Given the description of an element on the screen output the (x, y) to click on. 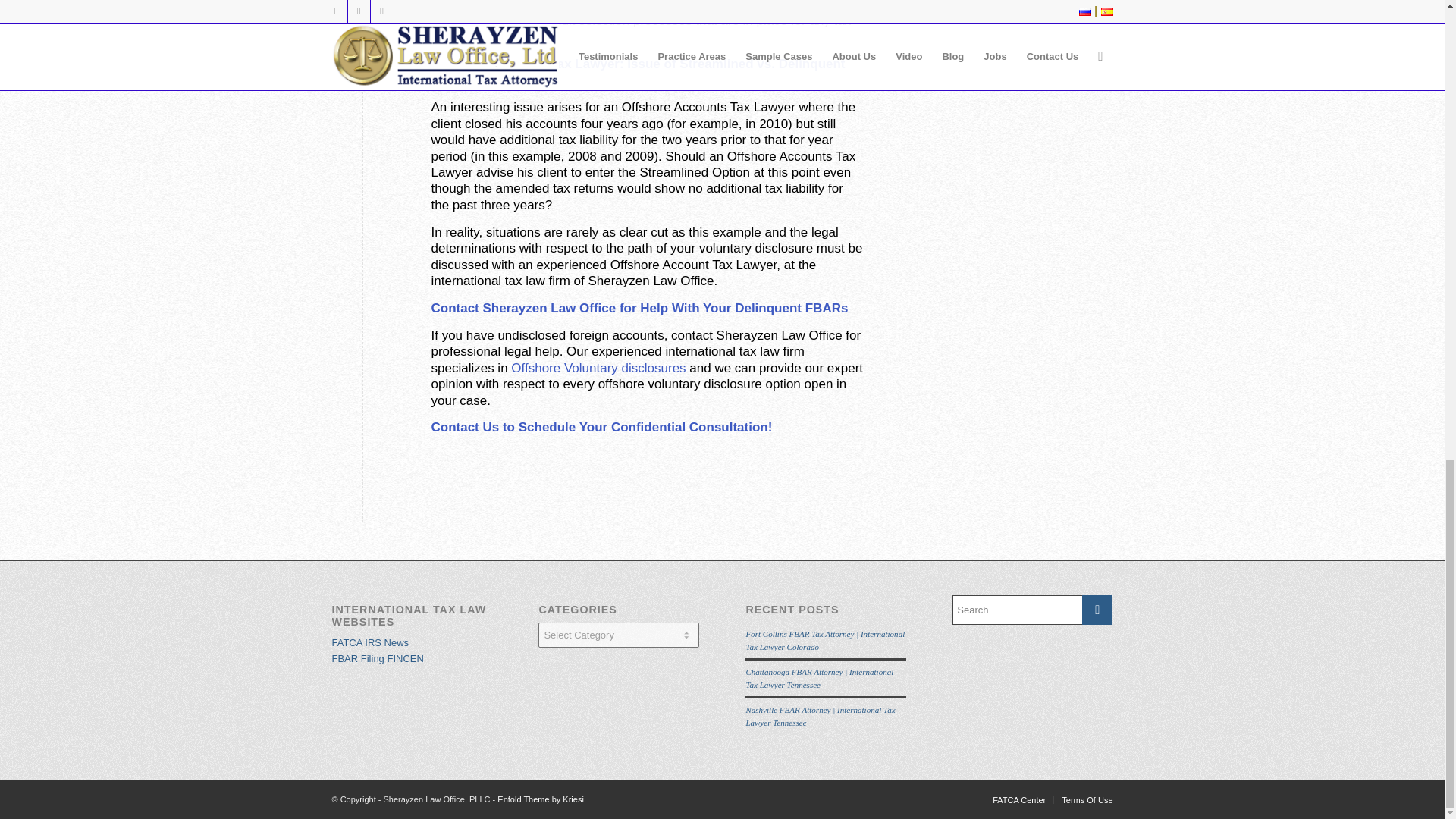
IRS official FATCA news website (370, 642)
Contact Offshore Accounts Tax Lawyer (600, 427)
FBAR filing FinCEN (377, 658)
